Given the description of an element on the screen output the (x, y) to click on. 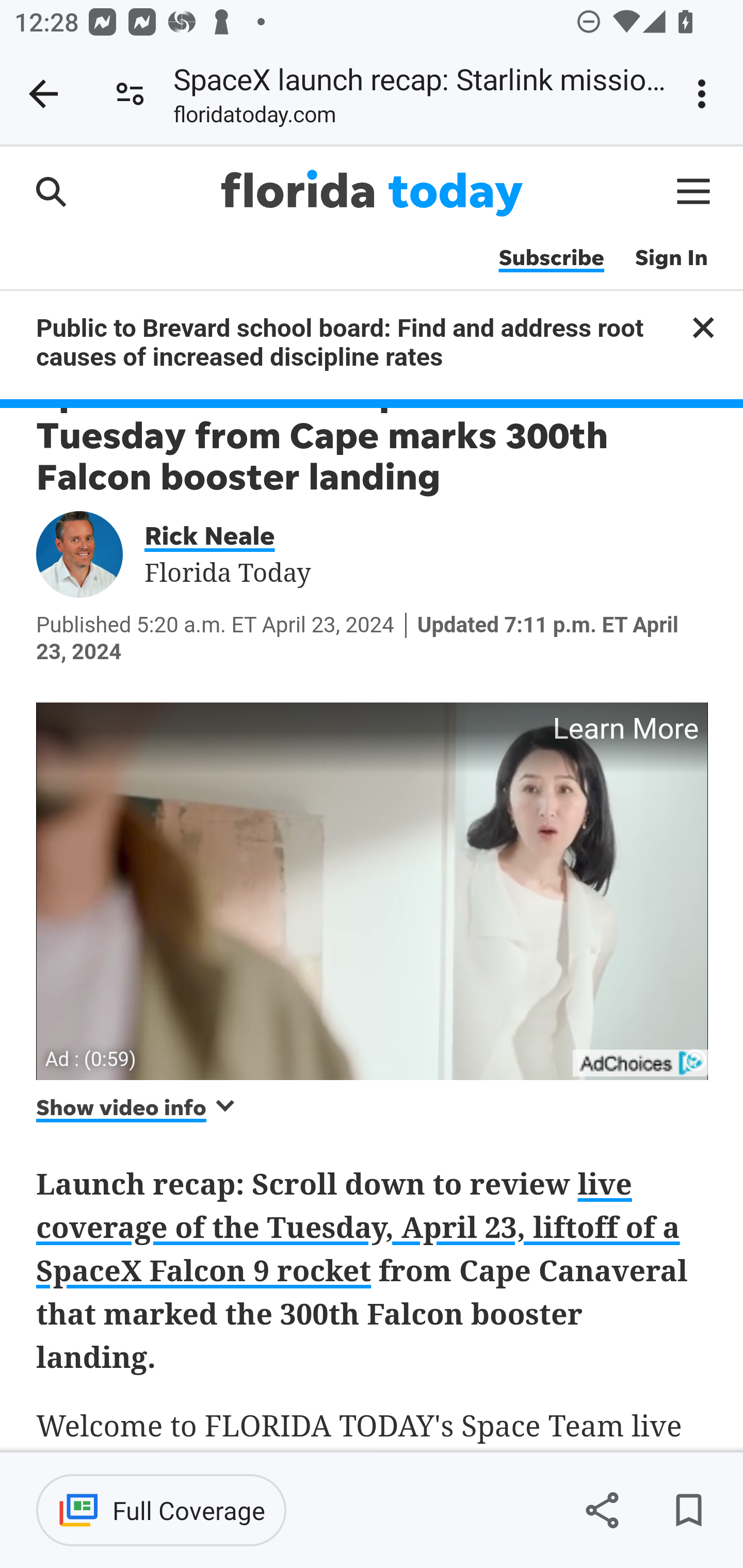
Close tab (43, 93)
Customize and control Google Chrome (705, 93)
Connection is secure (129, 93)
floridatoday.com (254, 117)
Florida Today (371, 193)
Search (50, 191)
Global Navigation (693, 191)
Subscribe (550, 257)
Sign In (671, 257)
Close notification (702, 327)
Rick Neale (222, 534)
help_outline_white_24dp_with_3px_trbl_padding (696, 1059)
get?name=admarker-full-tl (641, 1062)
Show video info (137, 1106)
Full Coverage (161, 1509)
Share (601, 1510)
Save for later (688, 1510)
